Given the description of an element on the screen output the (x, y) to click on. 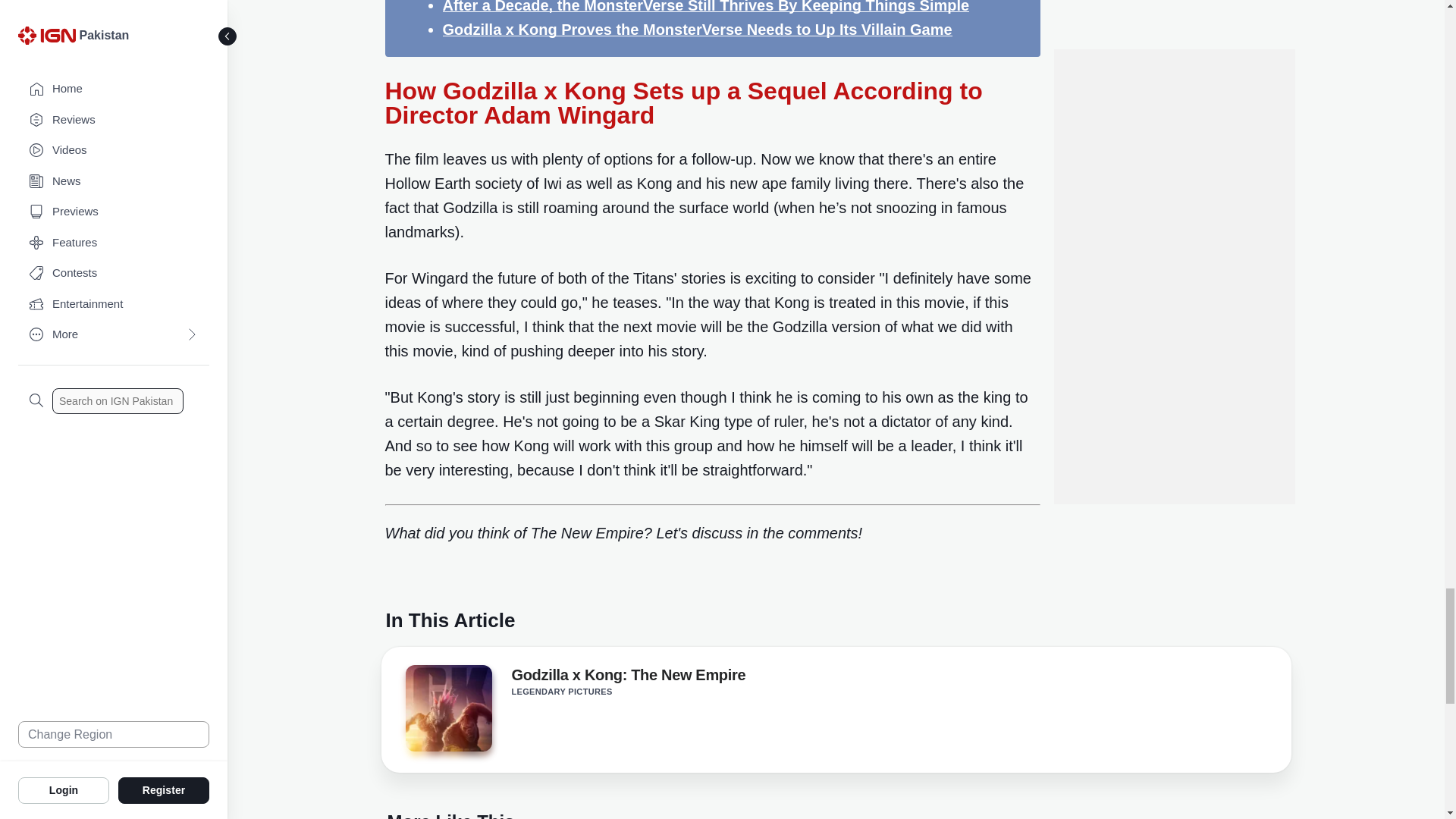
Godzilla x Kong: The New Empire (448, 712)
Godzilla x Kong: The New Empire (448, 708)
Godzilla x Kong: The New Empire (628, 677)
